Given the description of an element on the screen output the (x, y) to click on. 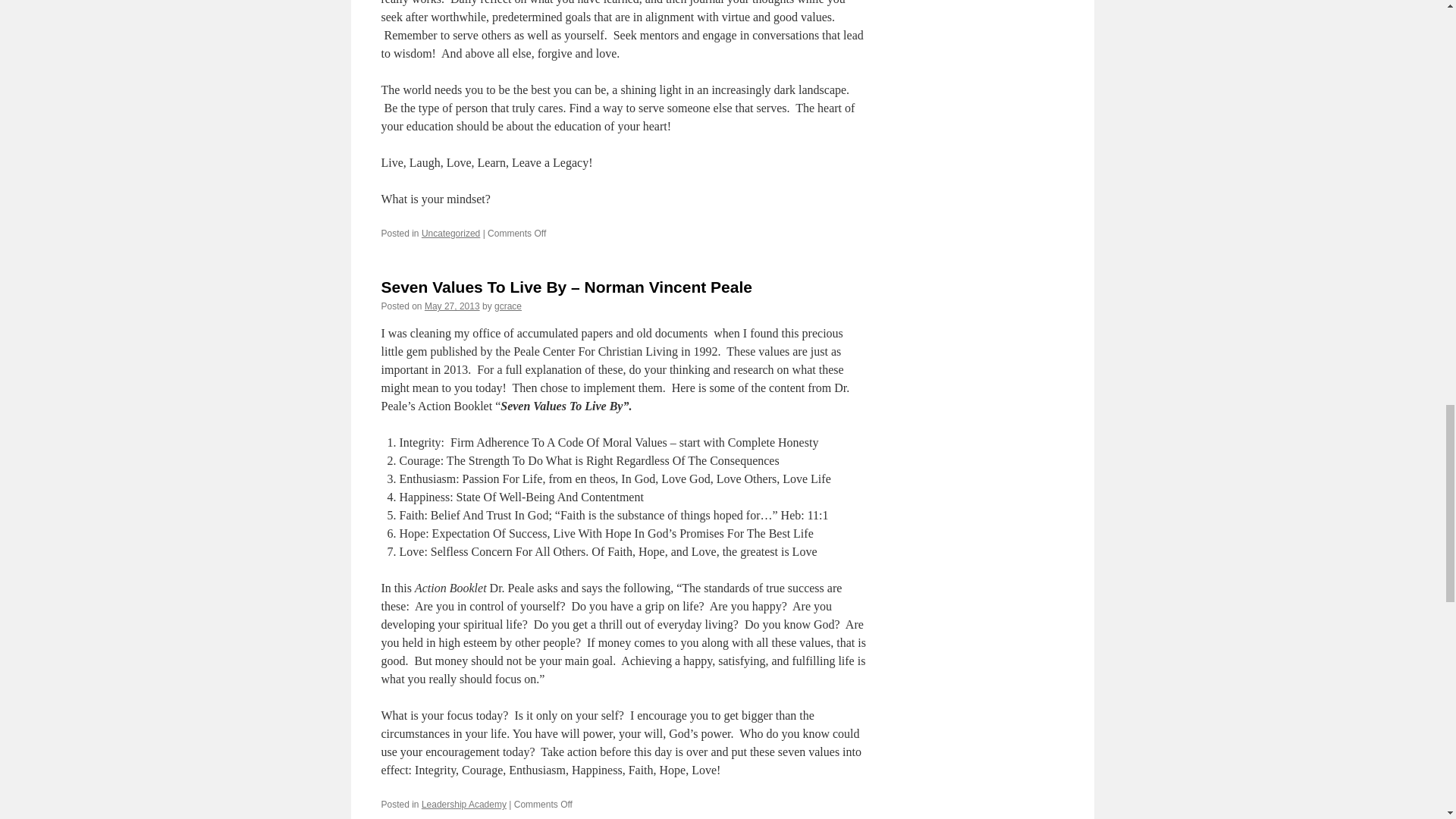
Uncategorized (451, 233)
May 27, 2013 (452, 306)
Leadership Academy (464, 804)
gcrace (508, 306)
View all posts by gcrace (508, 306)
11:08 am (452, 306)
